Given the description of an element on the screen output the (x, y) to click on. 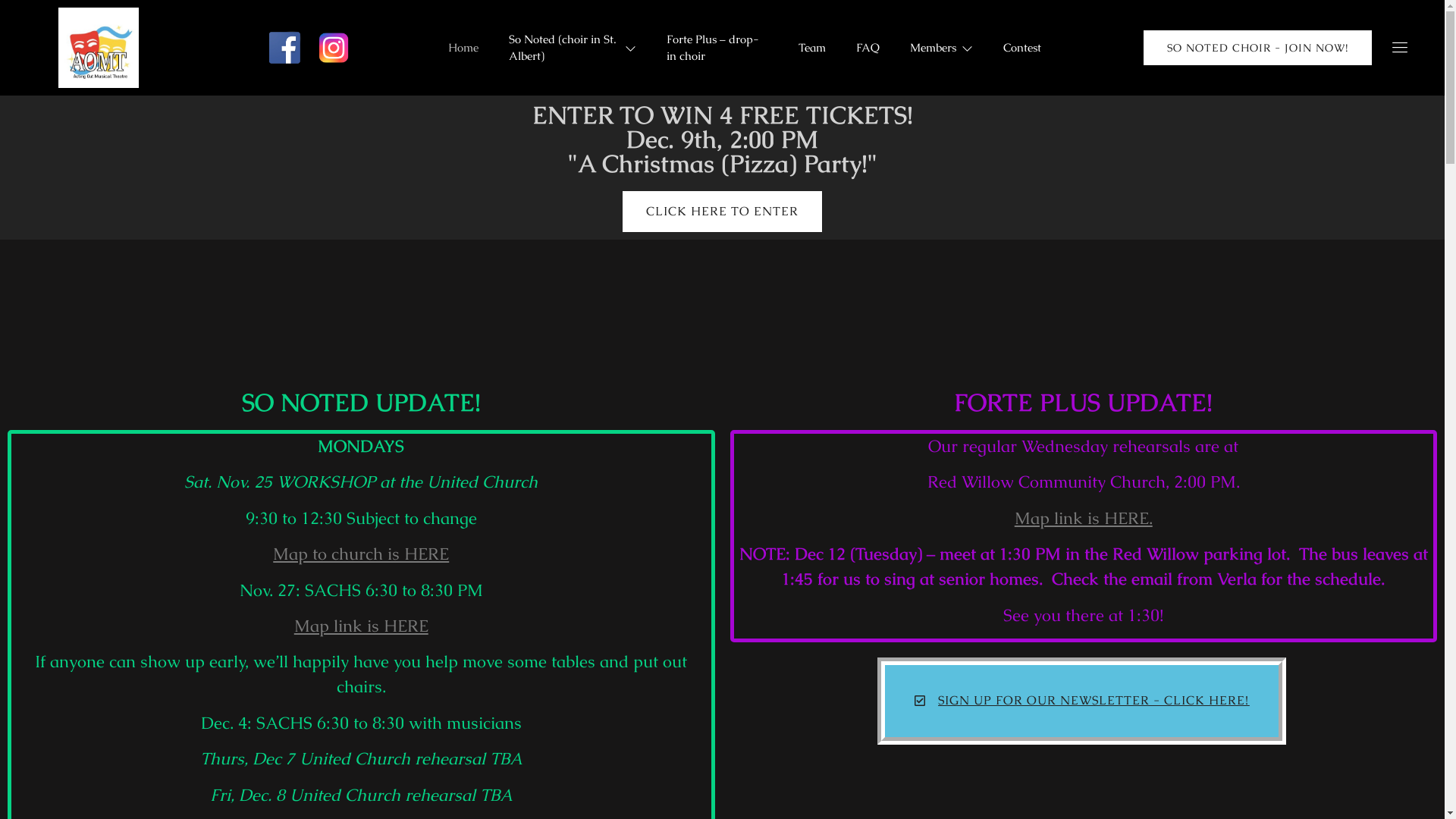
CLICK HERE TO ENTER Element type: text (722, 211)
ENTER TO WIN 4 FREE TICKETS! Element type: text (435, 267)
SO NOTED CHOIR - JOIN NOW! Element type: text (1257, 47)
Home Element type: text (463, 47)
Map link is HERE Element type: text (361, 626)
FAQ Element type: text (867, 47)
Contest Element type: text (1022, 47)
Members Element type: text (941, 47)
Map link is HERE. Element type: text (1083, 518)
Team Element type: text (811, 47)
So Noted (choir in St. Albert) Element type: text (572, 47)
SIGN UP FOR OUR NEWSLETTER - CLICK HERE! Element type: text (1081, 700)
Map to church is HERE Element type: text (360, 553)
